Given the description of an element on the screen output the (x, y) to click on. 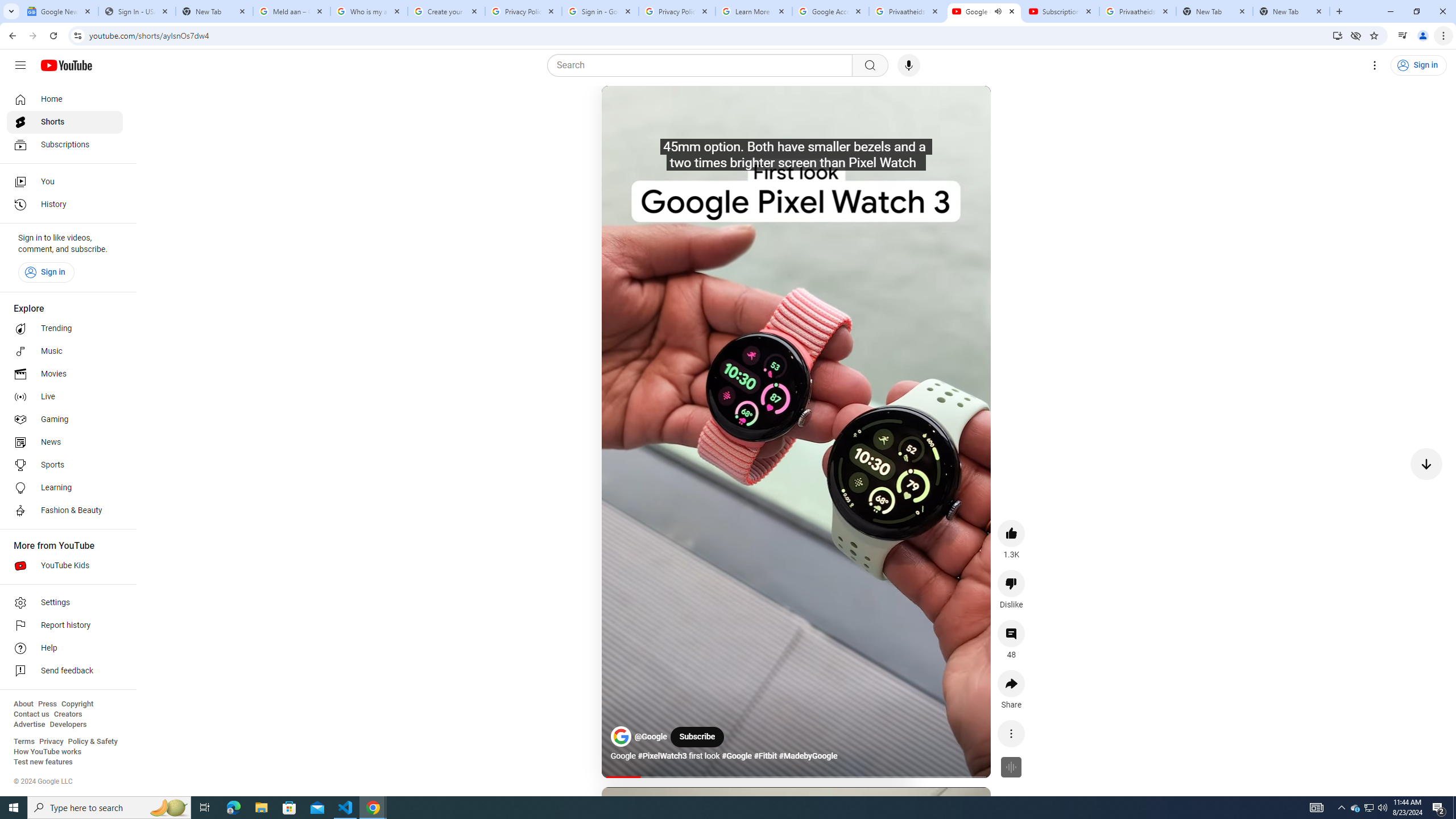
Creators (67, 714)
Who is my administrator? - Google Account Help (368, 11)
How YouTube works (47, 751)
like this video along with 1.3K other people (1011, 533)
Trending (64, 328)
Subscribe (697, 736)
History (64, 204)
